Given the description of an element on the screen output the (x, y) to click on. 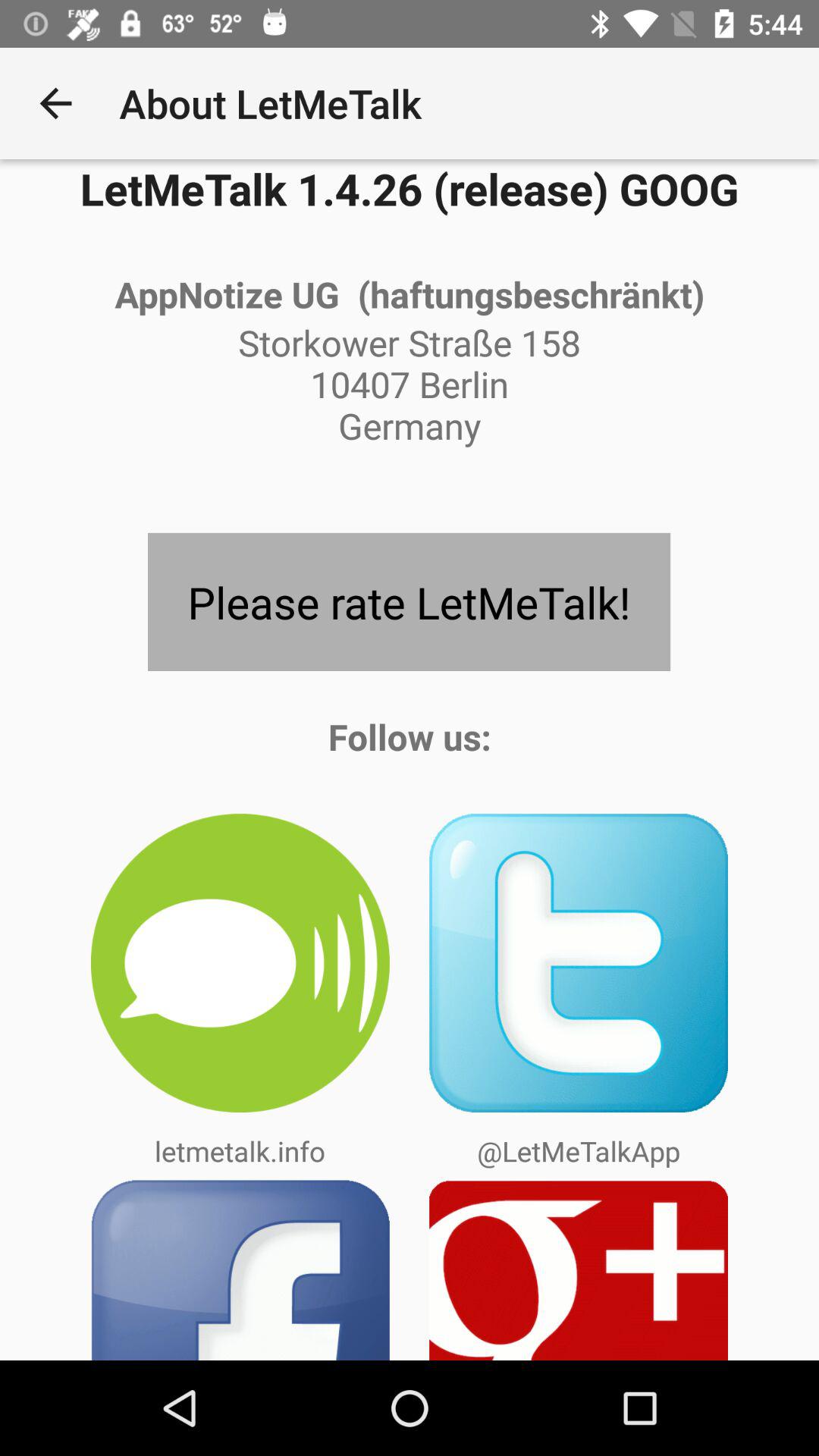
click please rate letmetalk! app (408, 601)
